Given the description of an element on the screen output the (x, y) to click on. 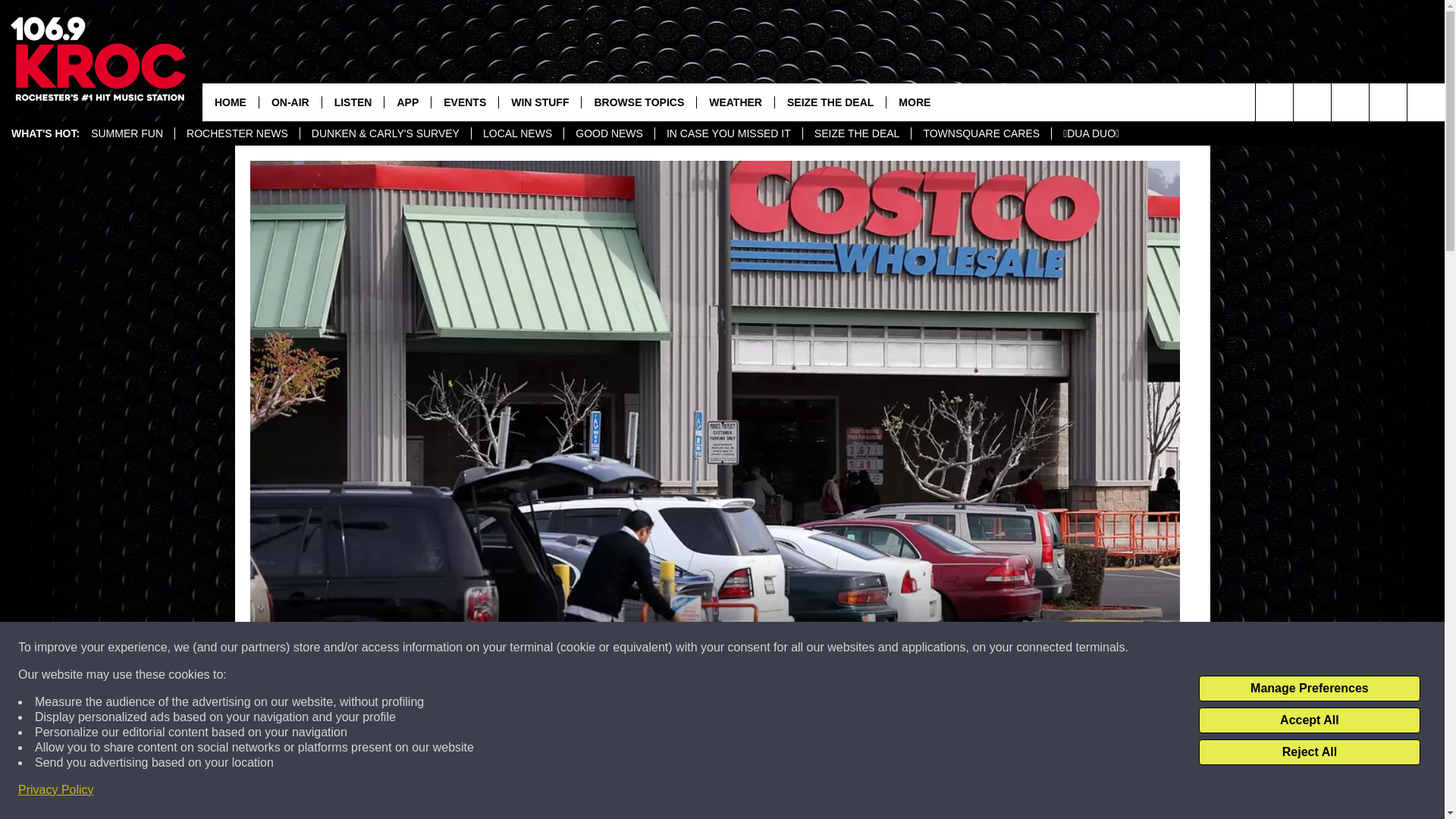
Share on Facebook (517, 791)
GOOD NEWS (608, 133)
LOCAL NEWS (516, 133)
Privacy Policy (55, 789)
SUMMER FUN (127, 133)
ROCHESTER NEWS (236, 133)
LISTEN (352, 102)
SEIZE THE DEAL (856, 133)
Reject All (1309, 751)
HOME (230, 102)
IN CASE YOU MISSED IT (727, 133)
Manage Preferences (1309, 688)
Share on Twitter (912, 791)
APP (407, 102)
ON-AIR (290, 102)
